Given the description of an element on the screen output the (x, y) to click on. 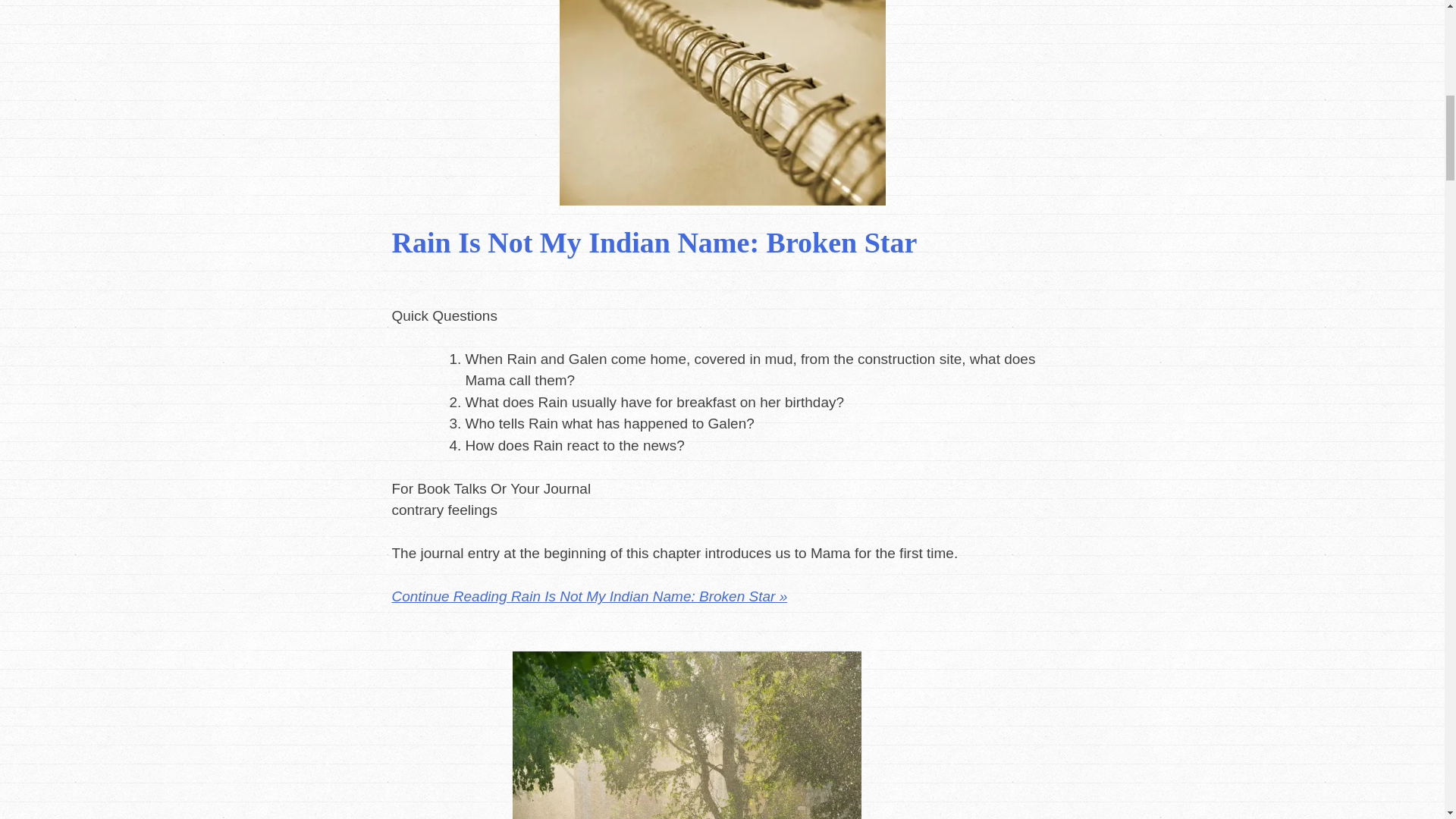
Rain Is Not My Indian Name: Broken Star (654, 242)
